Given the description of an element on the screen output the (x, y) to click on. 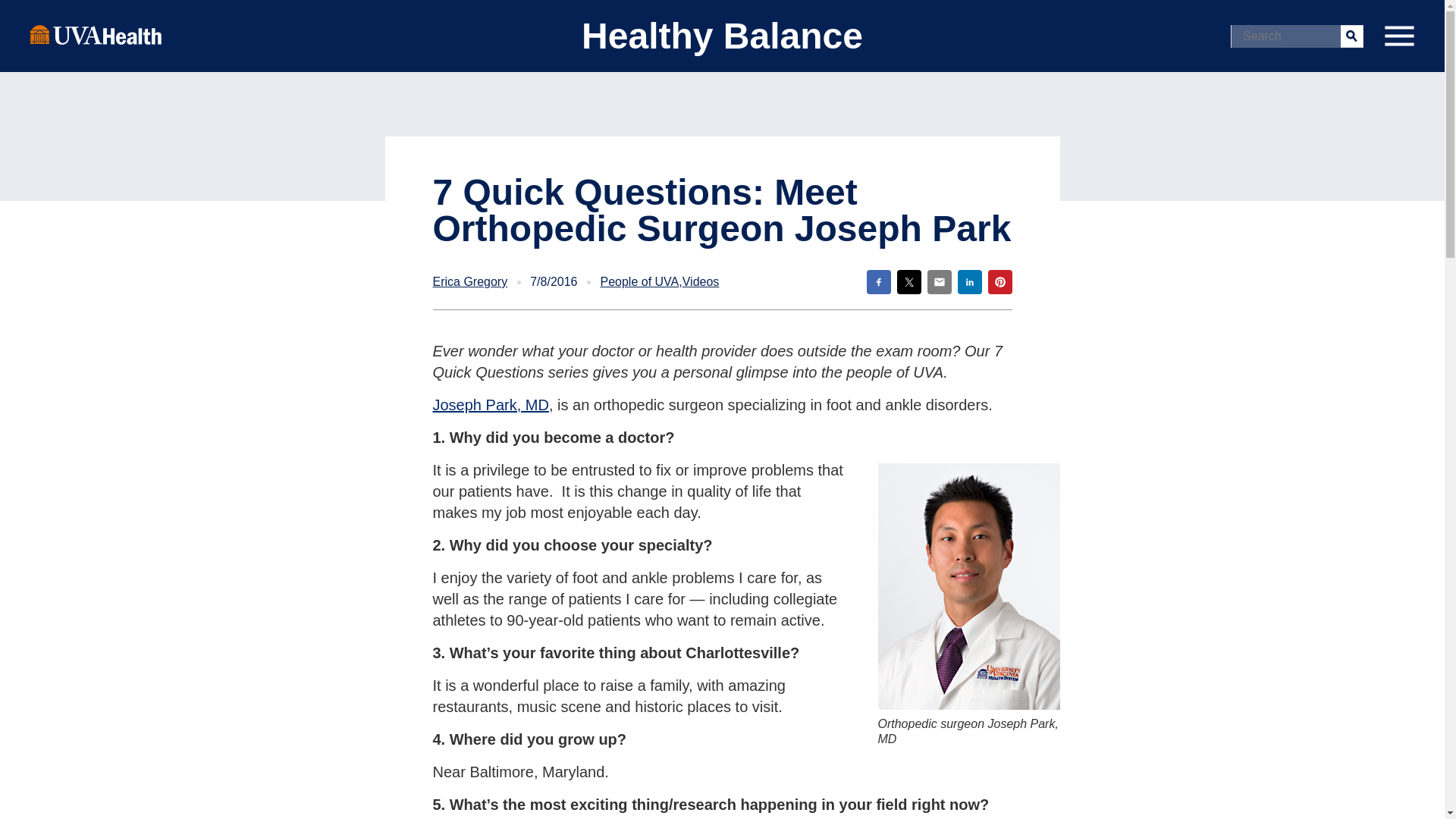
Joseph Park, MD (490, 404)
People of UVA (638, 282)
Healthy Balance (722, 35)
Submit the Search Form (1351, 35)
menu toggle (1398, 36)
Erica Gregory (469, 282)
Search Toggle (15, 11)
Search Submit (1351, 35)
Posts by Erica Gregory (469, 282)
UVA Health logo of UVA Health (95, 34)
Videos (700, 282)
